Given the description of an element on the screen output the (x, y) to click on. 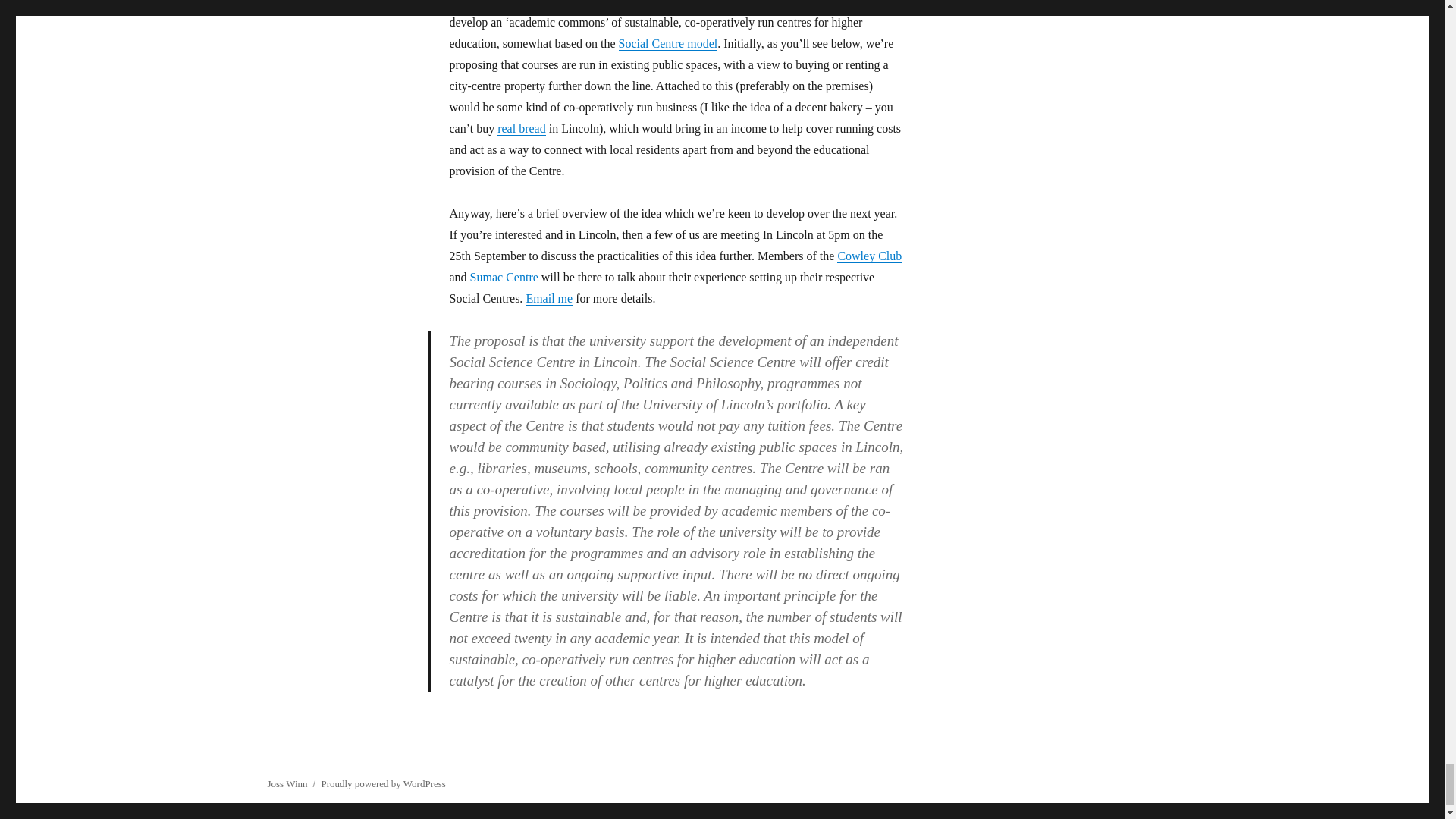
Cowley Club (869, 255)
Social Centre Stories (667, 42)
Sumac Centre (504, 277)
Real Bread Campaign (521, 128)
